Given the description of an element on the screen output the (x, y) to click on. 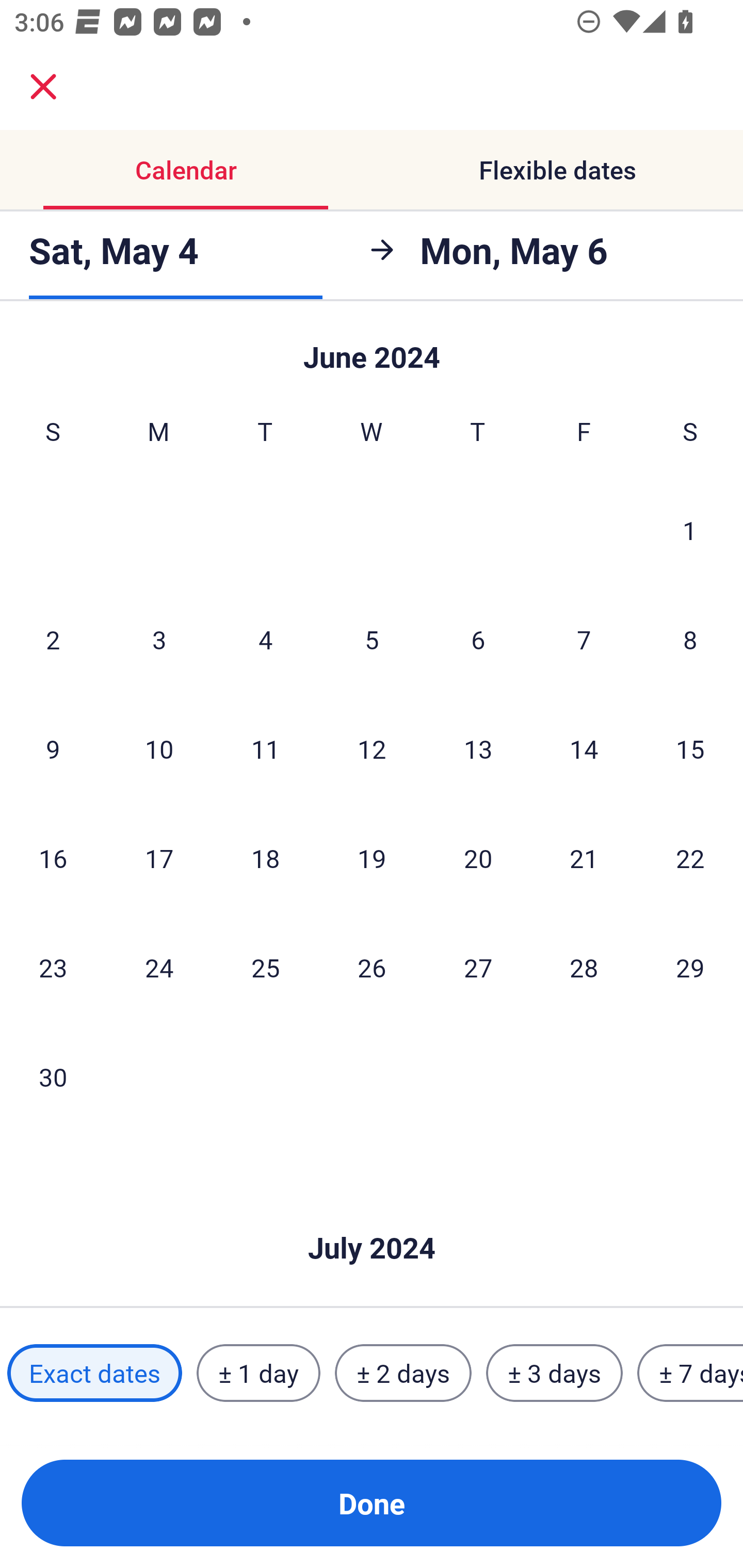
close. (43, 86)
Flexible dates (557, 170)
1 Saturday, June 1, 2024 (689, 529)
2 Sunday, June 2, 2024 (53, 638)
3 Monday, June 3, 2024 (159, 638)
4 Tuesday, June 4, 2024 (265, 638)
5 Wednesday, June 5, 2024 (371, 638)
6 Thursday, June 6, 2024 (477, 638)
7 Friday, June 7, 2024 (584, 638)
8 Saturday, June 8, 2024 (690, 638)
9 Sunday, June 9, 2024 (53, 748)
10 Monday, June 10, 2024 (159, 748)
11 Tuesday, June 11, 2024 (265, 748)
12 Wednesday, June 12, 2024 (371, 748)
13 Thursday, June 13, 2024 (477, 748)
14 Friday, June 14, 2024 (584, 748)
15 Saturday, June 15, 2024 (690, 748)
16 Sunday, June 16, 2024 (53, 857)
17 Monday, June 17, 2024 (159, 857)
18 Tuesday, June 18, 2024 (265, 857)
19 Wednesday, June 19, 2024 (371, 857)
20 Thursday, June 20, 2024 (477, 857)
21 Friday, June 21, 2024 (584, 857)
22 Saturday, June 22, 2024 (690, 857)
23 Sunday, June 23, 2024 (53, 967)
24 Monday, June 24, 2024 (159, 967)
25 Tuesday, June 25, 2024 (265, 967)
26 Wednesday, June 26, 2024 (371, 967)
27 Thursday, June 27, 2024 (477, 967)
28 Friday, June 28, 2024 (584, 967)
29 Saturday, June 29, 2024 (690, 967)
30 Sunday, June 30, 2024 (53, 1075)
Skip to Done (371, 1217)
Exact dates (94, 1372)
± 1 day (258, 1372)
± 2 days (403, 1372)
± 3 days (553, 1372)
± 7 days (690, 1372)
Done (371, 1502)
